Given the description of an element on the screen output the (x, y) to click on. 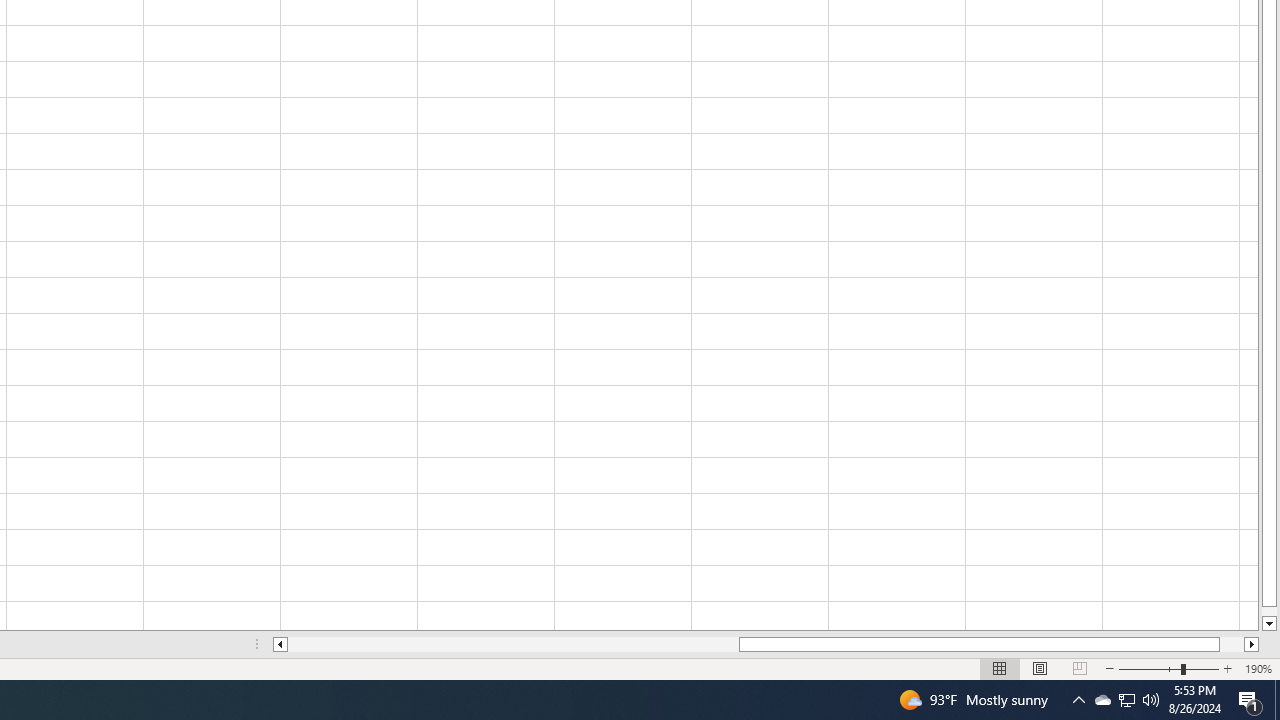
Page left (513, 644)
